Given the description of an element on the screen output the (x, y) to click on. 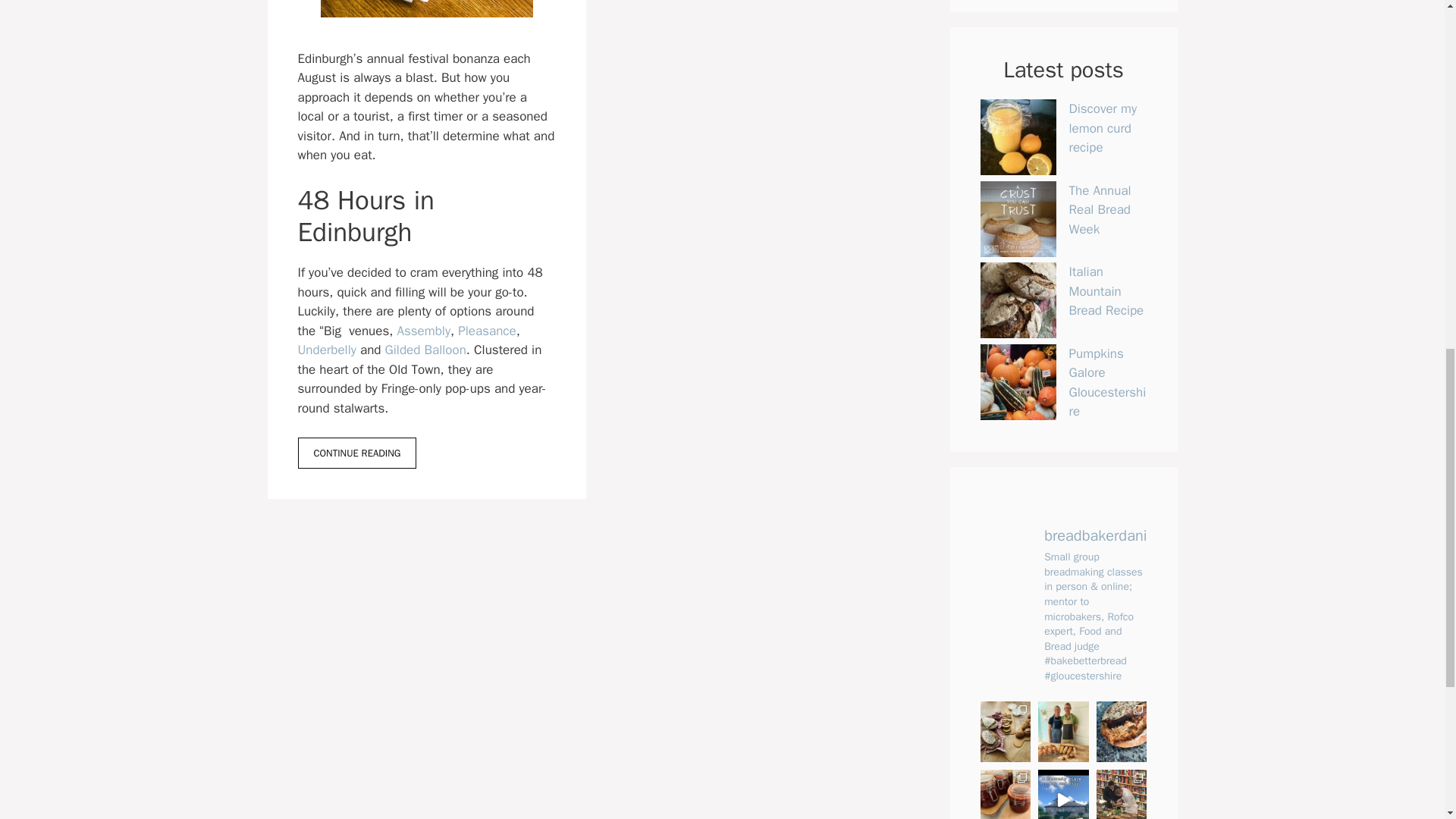
The Annual Real Bread Week (1099, 209)
Assembly (422, 330)
Italian Mountain Bread Recipe (1106, 290)
Underbelly (326, 349)
Top Tips for Edinburgh Fringe Eating and Drinking (356, 453)
Pleasance (486, 330)
CONTINUE READING (356, 453)
Discover my lemon curd recipe (1102, 127)
Gilded Balloon (425, 349)
Pumpkins Galore Gloucestershire (1107, 382)
